Given the description of an element on the screen output the (x, y) to click on. 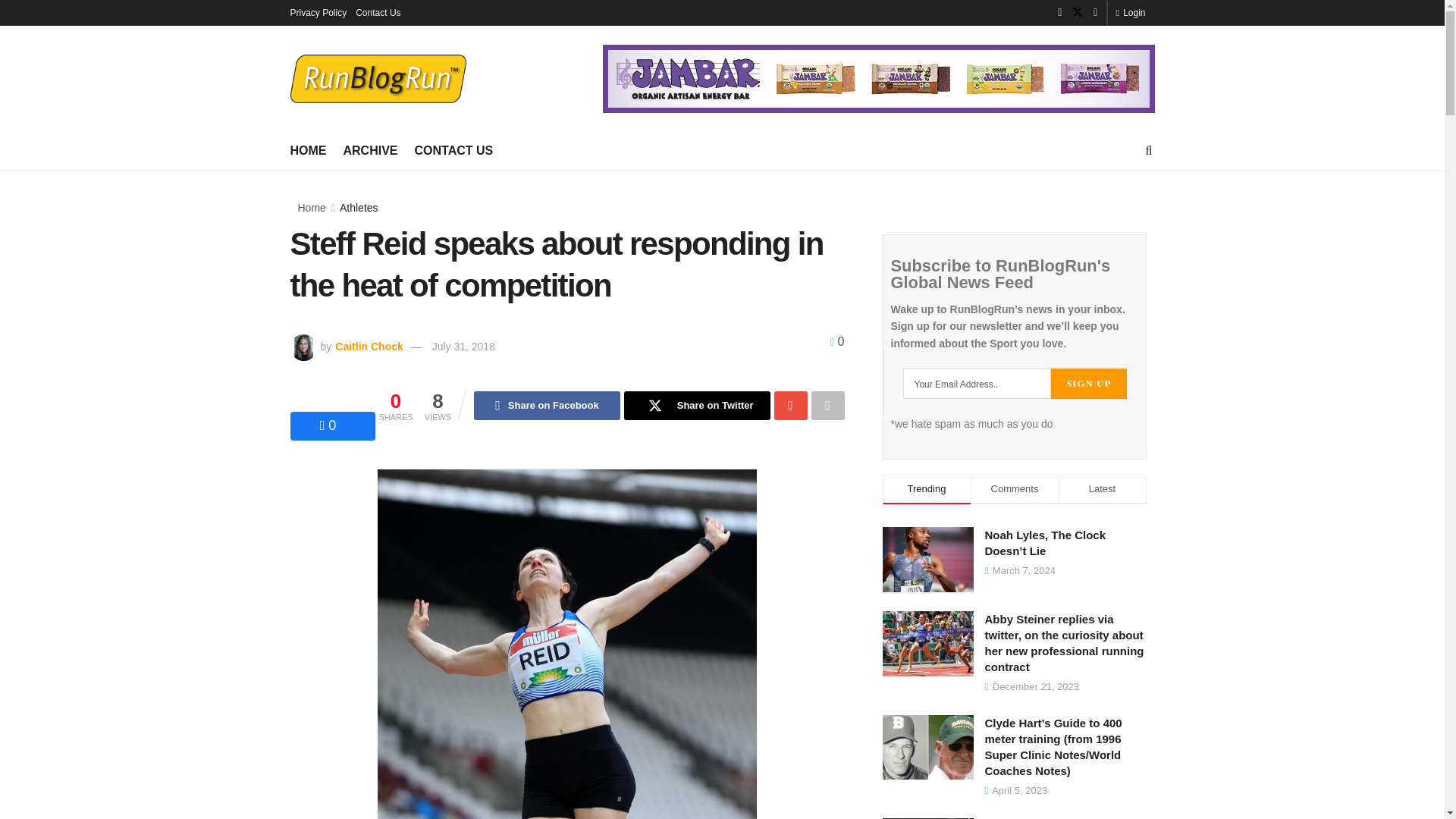
Caitlin Chock (367, 346)
HOME (307, 150)
Login (1129, 12)
Buy Now! (878, 78)
Home (310, 207)
CONTACT US (453, 150)
Athletes (358, 207)
Share on Facebook (547, 405)
ARCHIVE (369, 150)
Share on Twitter (697, 405)
0 (328, 425)
Contact Us (377, 12)
SIGN UP (1088, 383)
Privacy Policy (317, 12)
0 (836, 341)
